Given the description of an element on the screen output the (x, y) to click on. 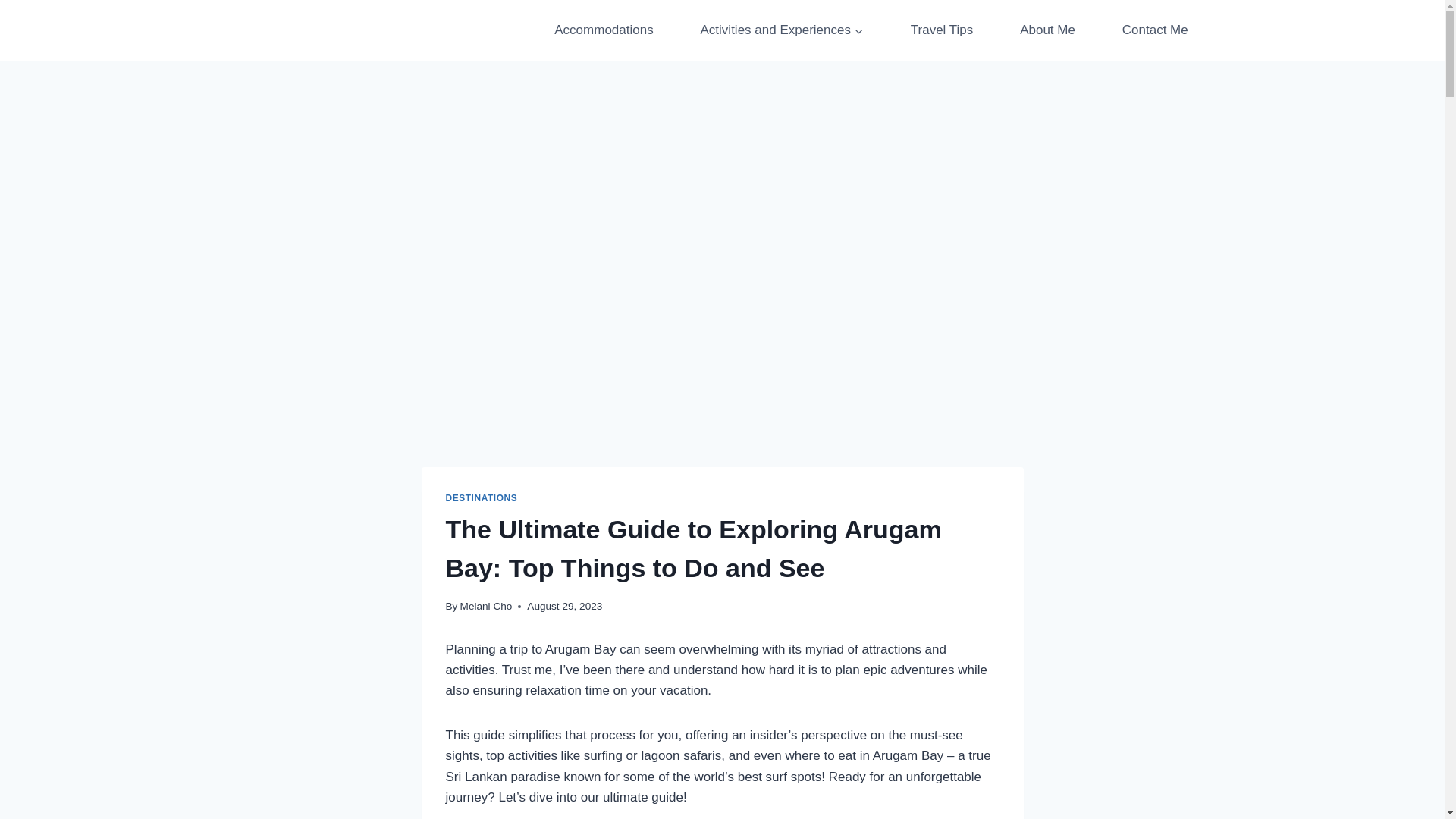
Contact Me (1154, 30)
Activities and Experiences (782, 30)
DESTINATIONS (481, 498)
About Me (1047, 30)
Melani Cho (486, 605)
Travel Tips (941, 30)
Accommodations (603, 30)
